Given the description of an element on the screen output the (x, y) to click on. 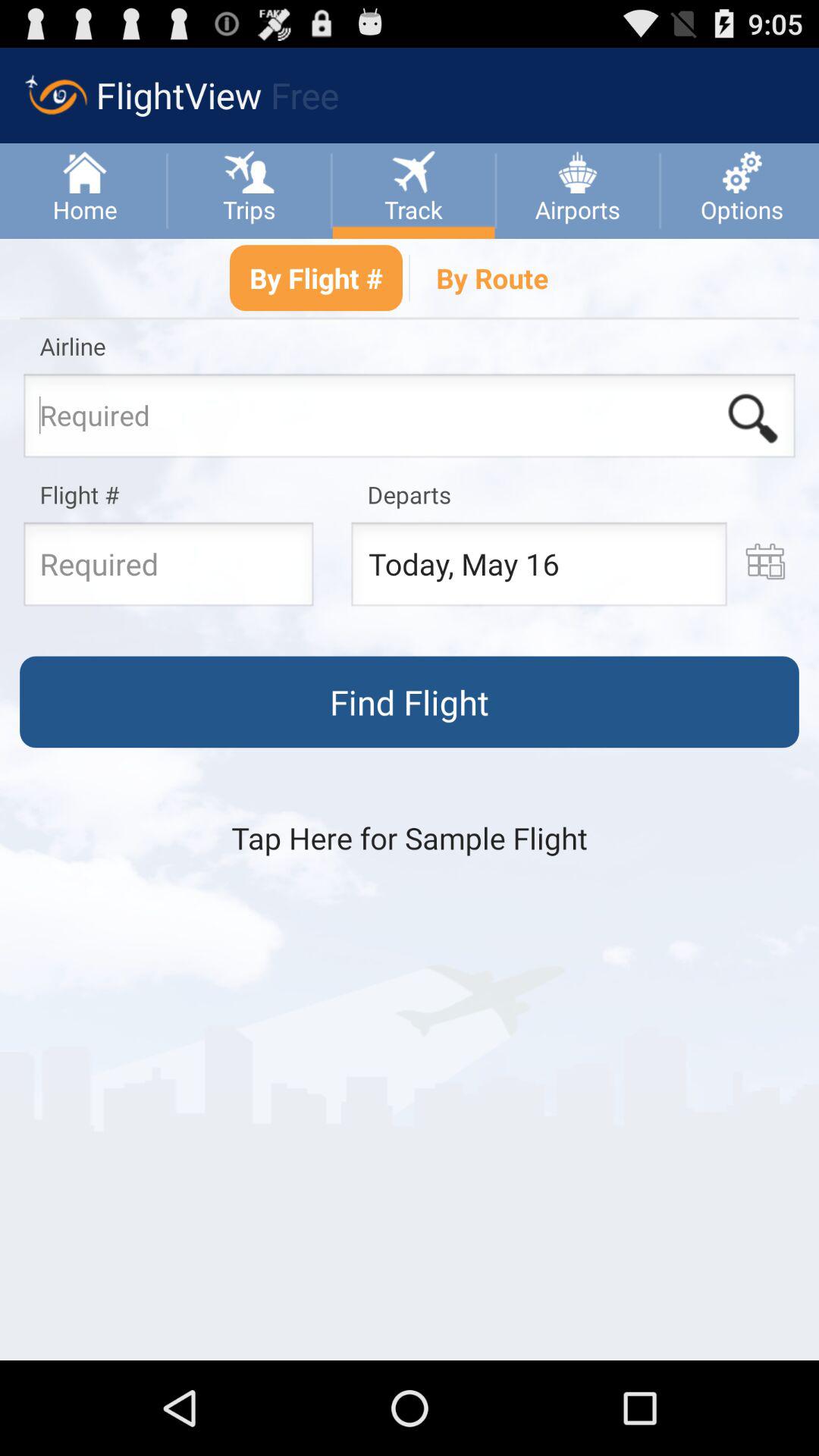
select the option which says find flight (409, 702)
click on the option which is right side of home option (249, 170)
click on search icon (752, 418)
select the home option (85, 190)
text below departs (539, 568)
select the option beside trips (413, 170)
